Given the description of an element on the screen output the (x, y) to click on. 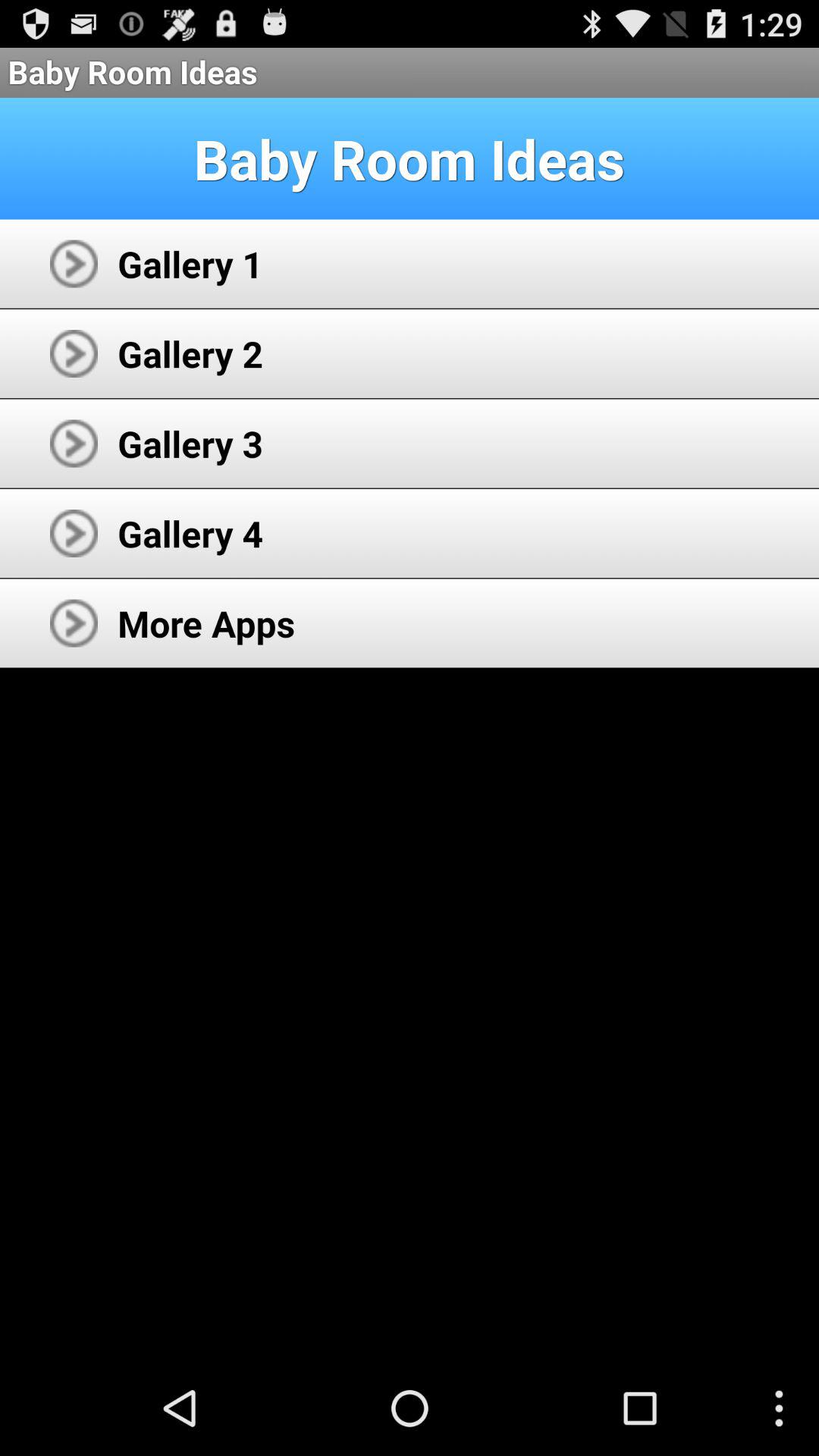
swipe until gallery 3 app (190, 443)
